Given the description of an element on the screen output the (x, y) to click on. 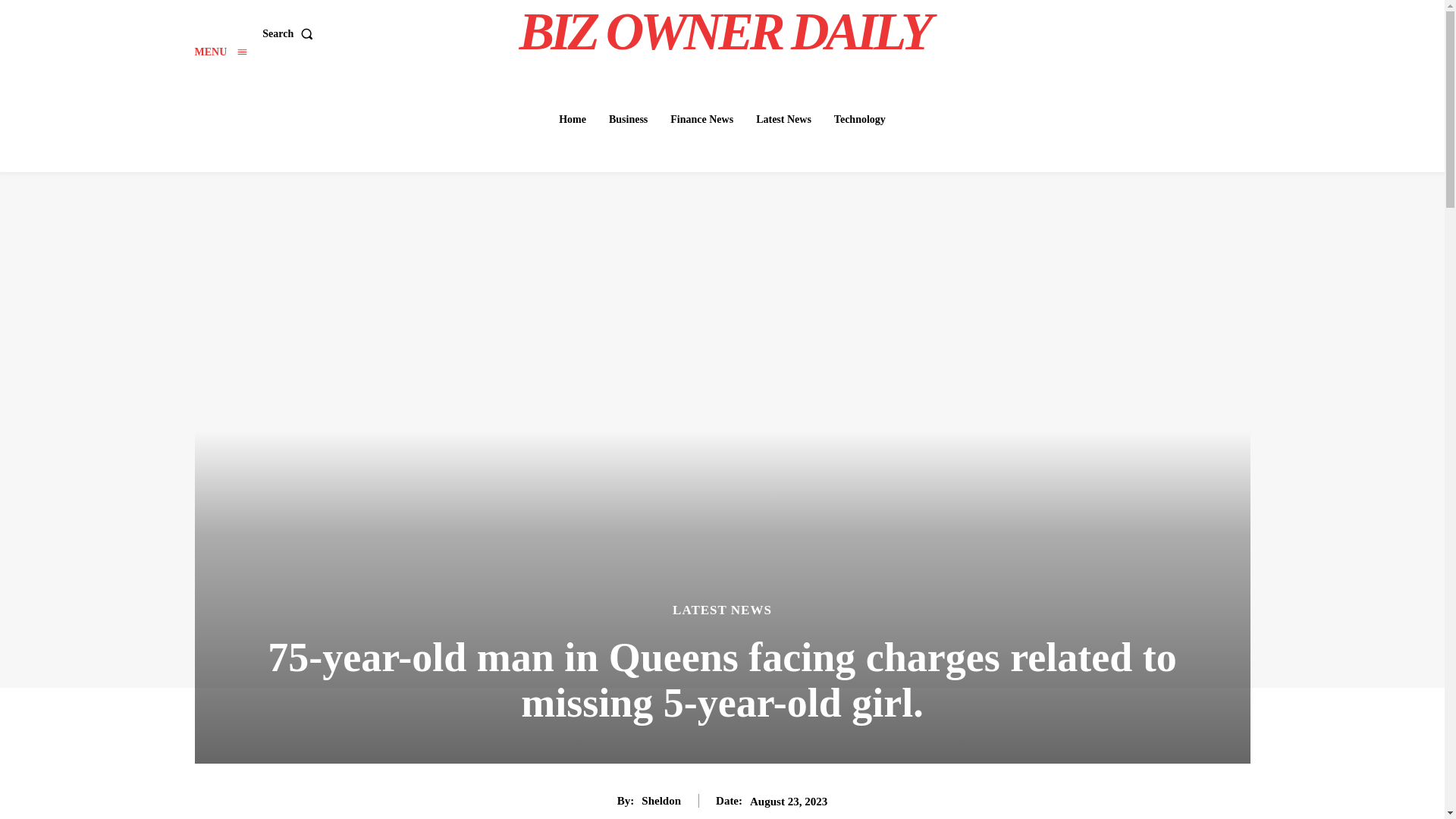
Latest News (783, 119)
Technology (860, 119)
LATEST NEWS (721, 609)
Finance News (701, 119)
Sheldon (661, 800)
MENU (220, 51)
Home (572, 119)
BIZ OWNER DAILY (724, 31)
Menu (220, 51)
Search (290, 33)
Business (628, 119)
